Given the description of an element on the screen output the (x, y) to click on. 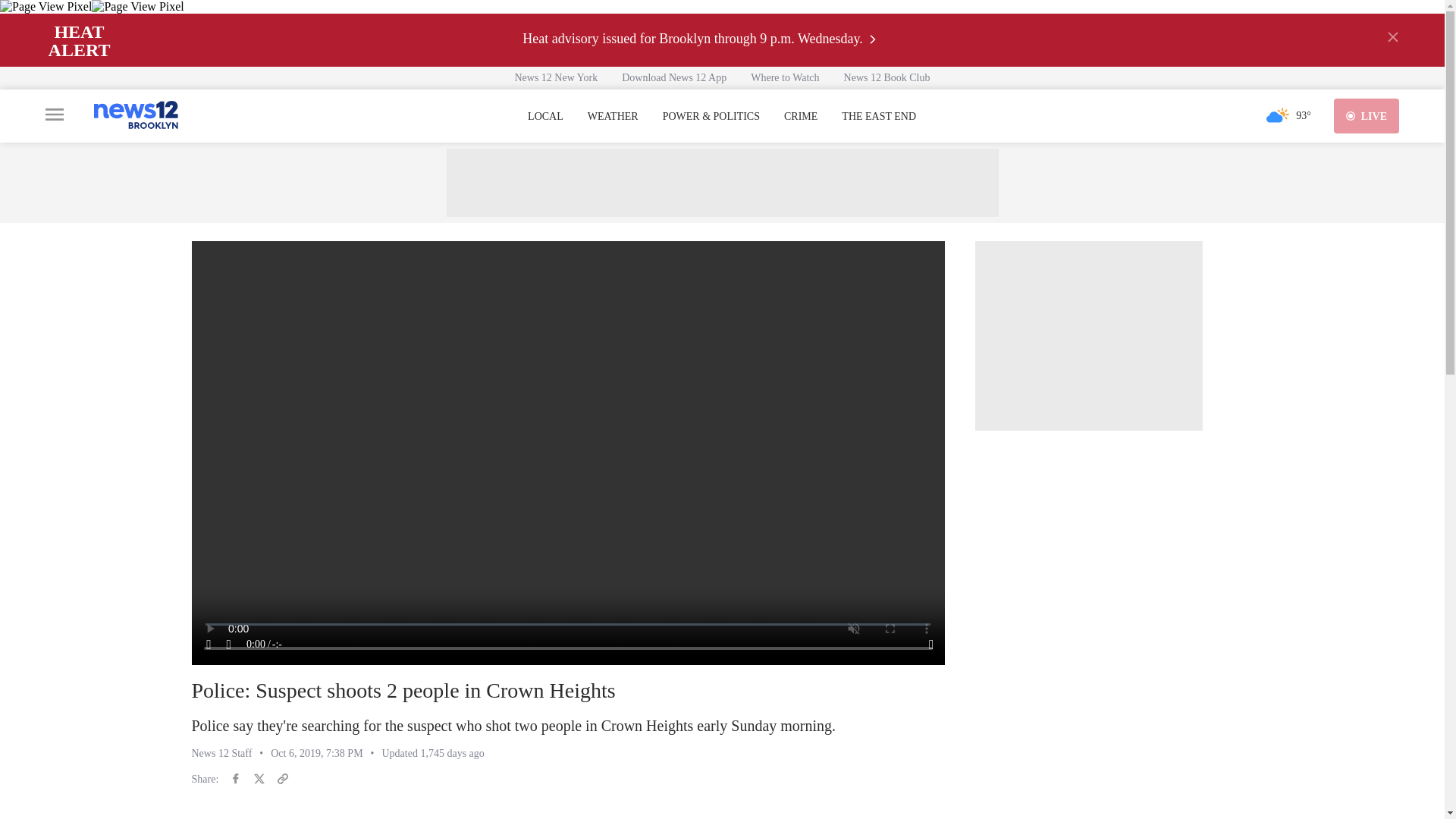
LIVE (1366, 115)
Download News 12 App (673, 78)
Where to Watch (784, 78)
Partly Cloudy (1277, 115)
LOCAL (545, 116)
News 12 Book Club (886, 78)
News 12 New York (556, 78)
THE EAST END (878, 116)
CRIME (800, 116)
WEATHER (613, 116)
